Given the description of an element on the screen output the (x, y) to click on. 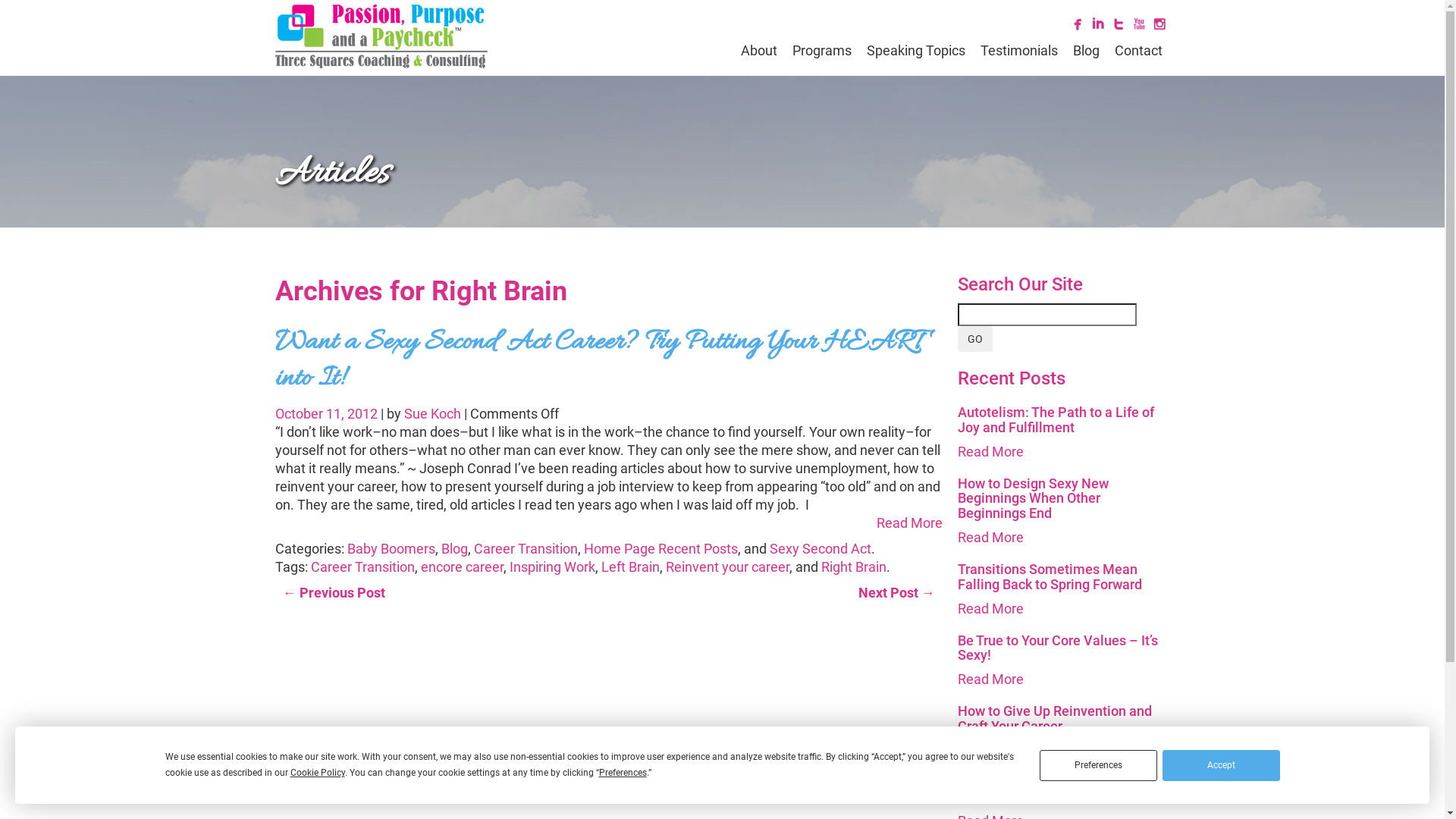
October 11, 2012 Element type: text (326, 413)
Transitions Sometimes Mean Falling Back to Spring Forward Element type: text (1049, 576)
Baby Boomers Element type: text (391, 548)
Sexy Second Act Element type: text (819, 548)
How to Give Up Reinvention and Craft Your Career Element type: text (1054, 718)
Preferences Element type: text (1097, 764)
Read More Element type: text (989, 451)
Do You Ever Get Tired of Being Sick and Tired? Element type: text (1063, 789)
encore career Element type: text (461, 566)
How to Design Sexy New Beginnings When Other Beginnings End Element type: text (1032, 498)
Contact Element type: text (1138, 50)
Testimonials Element type: text (1018, 50)
Left Brain Element type: text (629, 566)
Sue Koch Element type: text (431, 413)
Home Page Recent Posts Element type: text (660, 548)
Read More Element type: text (989, 750)
Read More Element type: text (909, 522)
Autotelism: The Path to a Life of Joy and Fulfillment Element type: text (1055, 419)
Reinvent your career Element type: text (727, 566)
Inspiring Work Element type: text (552, 566)
GO Element type: text (974, 338)
Right Brain Element type: text (852, 566)
Blog Element type: text (454, 548)
About Element type: text (758, 50)
Career Transition Element type: text (362, 566)
Programs Element type: text (821, 50)
Blog Element type: text (1085, 50)
Career Transition Element type: text (525, 548)
Read More Element type: text (989, 608)
Read More Element type: text (989, 679)
Accept Element type: text (1220, 764)
Speaking Topics Element type: text (915, 50)
Read More Element type: text (989, 537)
